Given the description of an element on the screen output the (x, y) to click on. 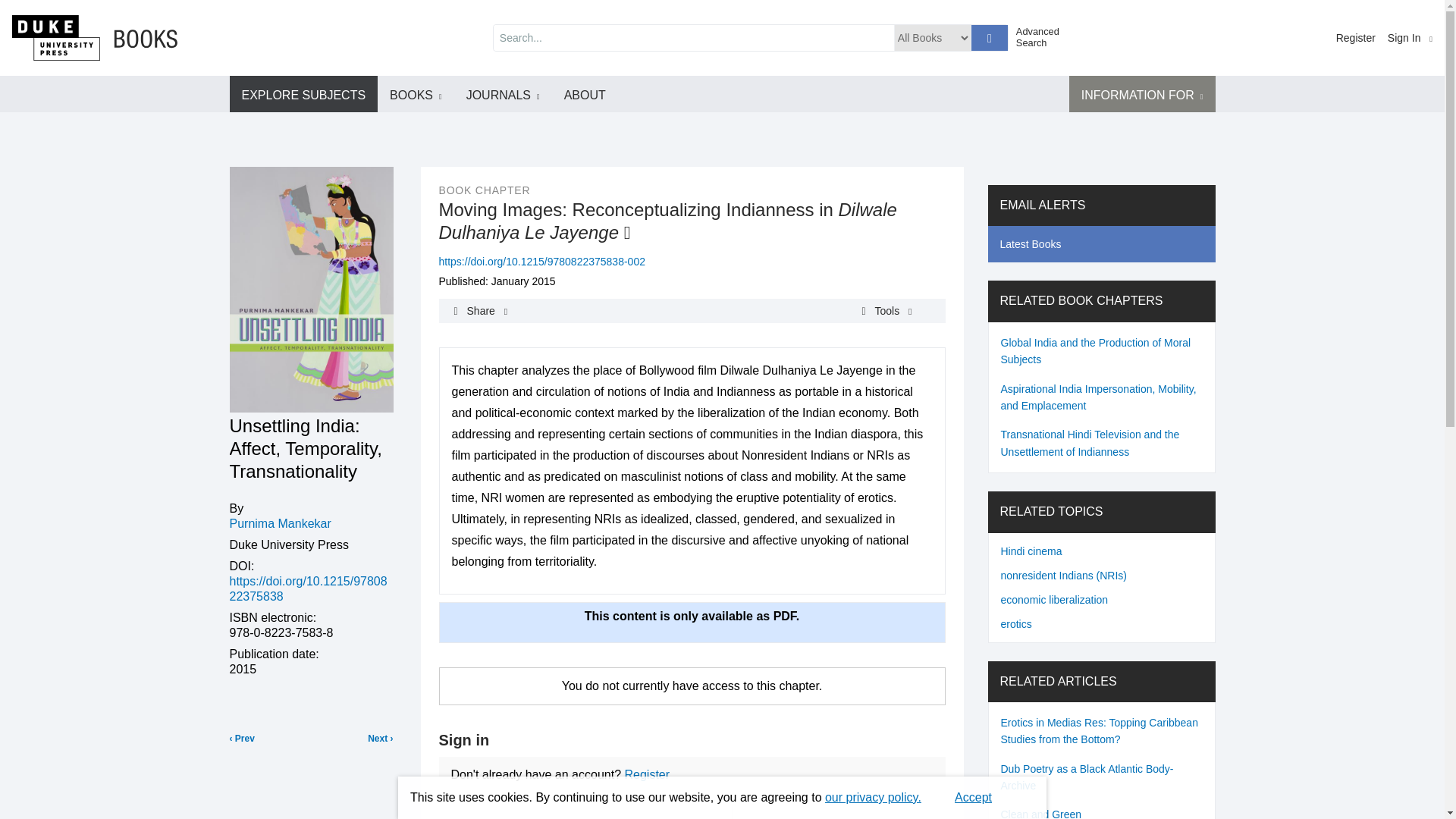
EXPLORE SUBJECTS (302, 94)
JOURNALS (502, 94)
Advanced Search (1043, 37)
search input (693, 37)
Sign In (1409, 37)
BOOKS (415, 94)
Register (1355, 37)
